Given the description of an element on the screen output the (x, y) to click on. 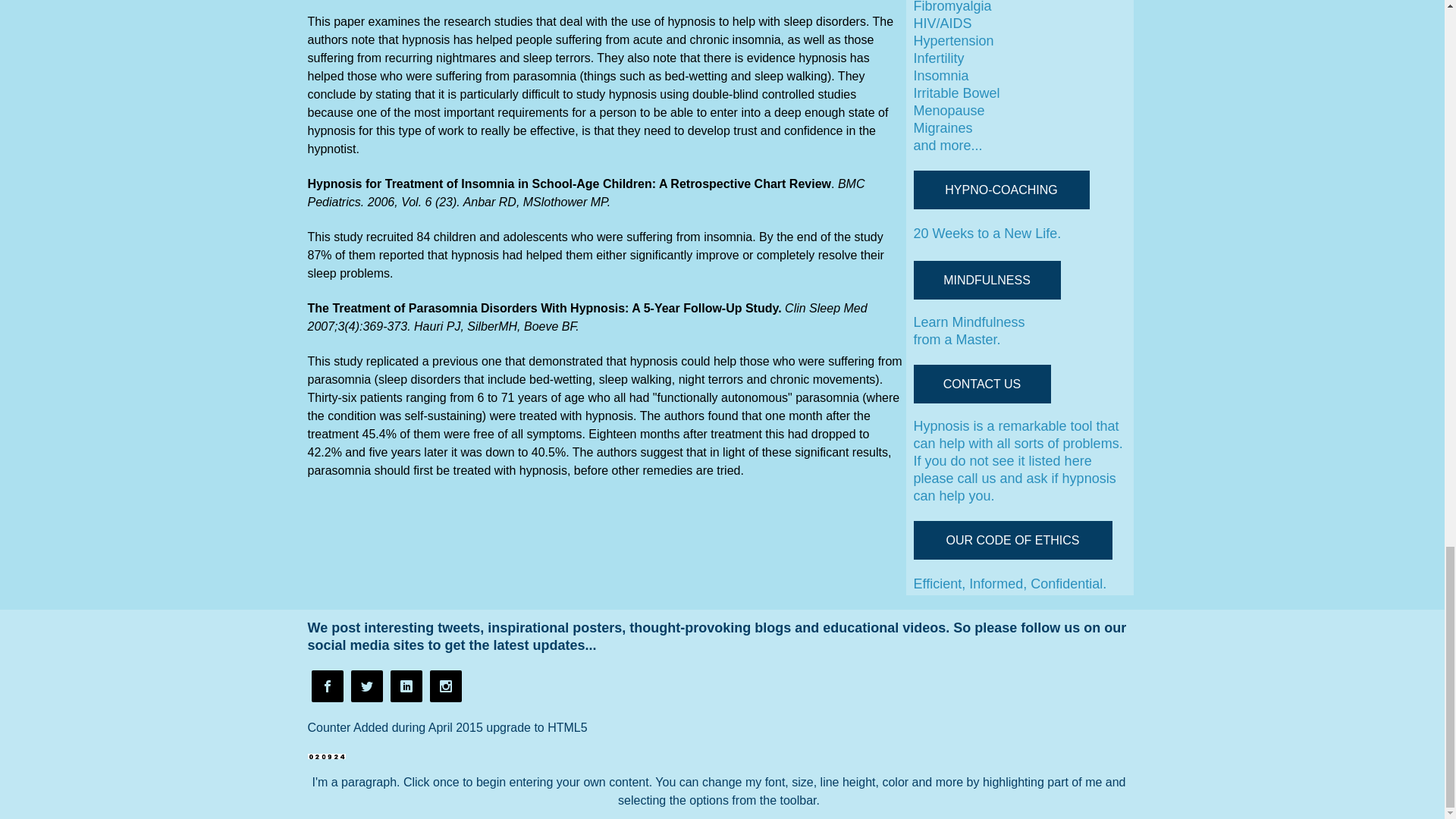
CONTACT US (980, 383)
MINDFULNESS (985, 280)
HYPNO-COACHING (1000, 189)
OUR CODE OF ETHICS (1012, 539)
